Given the description of an element on the screen output the (x, y) to click on. 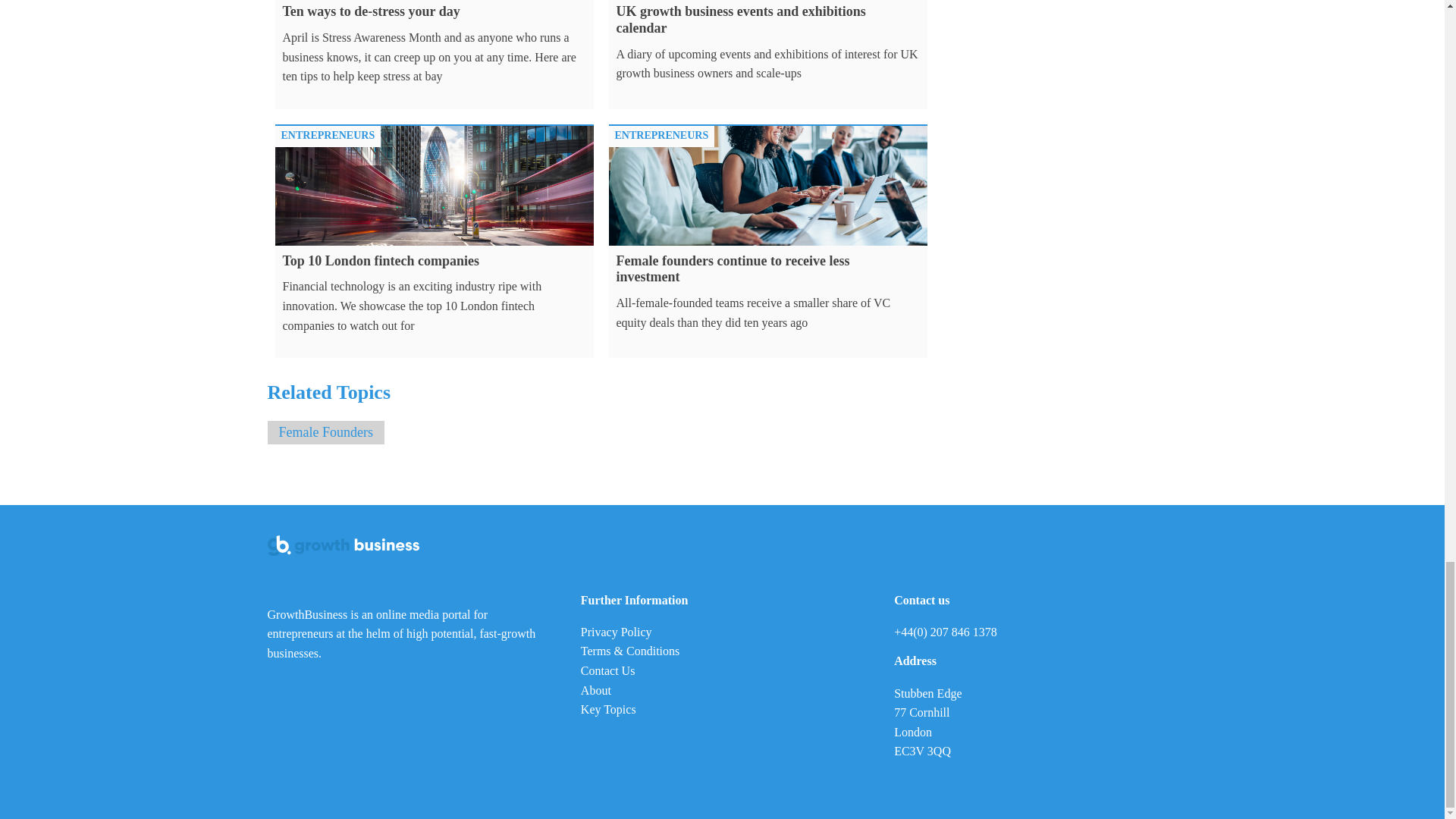
3rd party ad content (1062, 17)
